Given the description of an element on the screen output the (x, y) to click on. 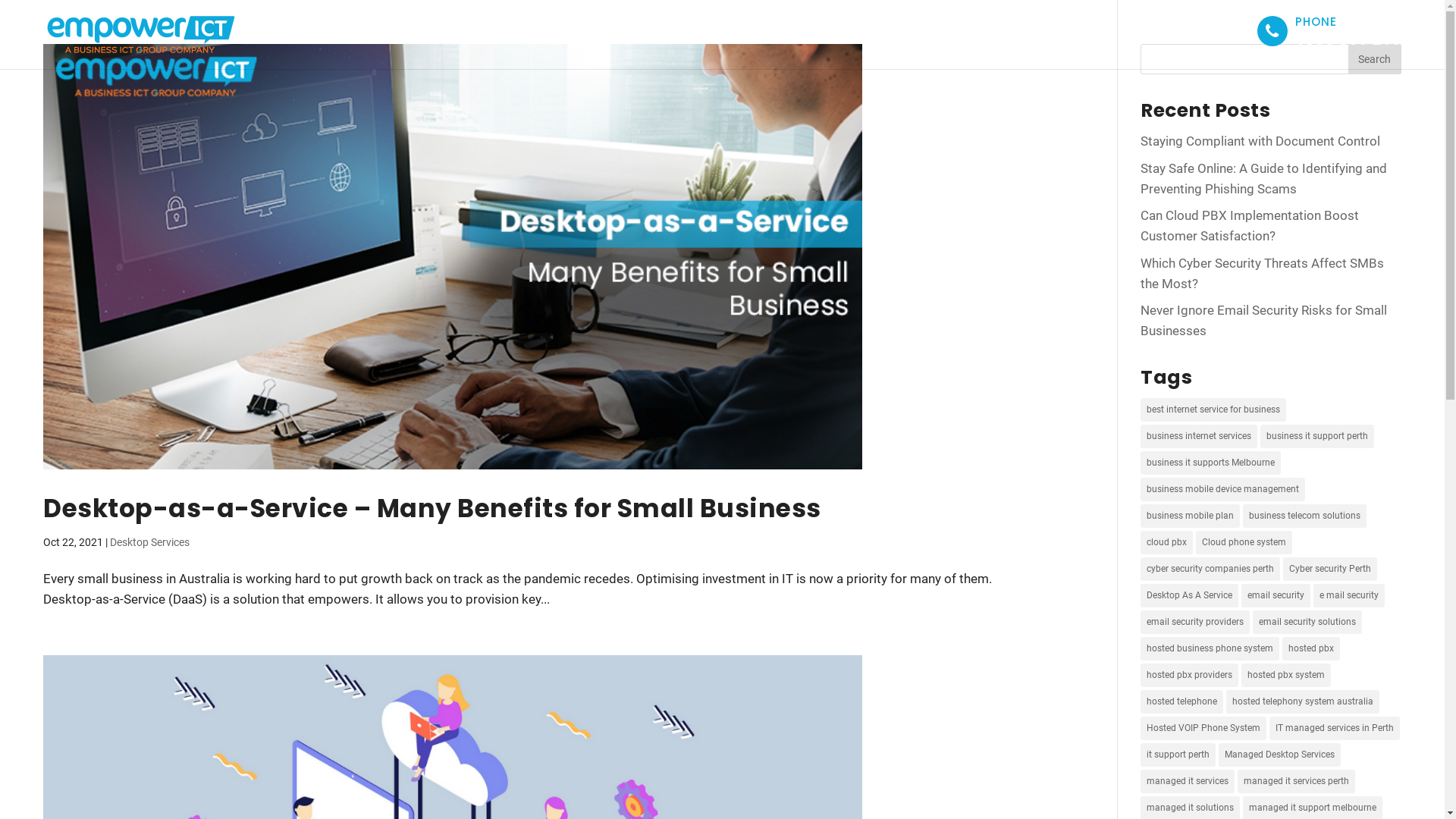
hosted pbx Element type: text (1310, 648)
managed it services Element type: text (1187, 781)
managed it services perth Element type: text (1296, 781)
1300 850 210 Element type: text (1348, 38)
business telecom solutions Element type: text (1304, 515)
Which Cyber Security Threats Affect SMBs the Most? Element type: text (1261, 272)
business it supports Melbourne Element type: text (1210, 462)
Capabilities Element type: text (982, 30)
business mobile plan Element type: text (1189, 515)
Cyber security Perth Element type: text (1330, 568)
hosted pbx providers Element type: text (1189, 675)
Can Cloud PBX Implementation Boost Customer Satisfaction? Element type: text (1249, 225)
Never Ignore Email Security Risks for Small Businesses Element type: text (1263, 320)
Desktop Services Element type: text (149, 542)
Desktop As A Service Element type: text (1189, 595)
hosted business phone system Element type: text (1209, 648)
it support perth Element type: text (1177, 754)
cloud pbx Element type: text (1166, 542)
best internet service for business Element type: text (1213, 409)
e mail security Element type: text (1348, 595)
Resources Element type: text (1068, 30)
Hosted VOIP Phone System Element type: text (1203, 728)
Contact Us Element type: text (1204, 30)
IT managed services in Perth Element type: text (1334, 728)
email security providers Element type: text (1194, 621)
Staying Compliant with Document Control Element type: text (1260, 140)
About Us Element type: text (899, 30)
Managed Desktop Services Element type: text (1279, 754)
Home Element type: text (832, 30)
email security Element type: text (1275, 595)
cyber security companies perth Element type: text (1210, 568)
hosted pbx system Element type: text (1285, 675)
hosted telephony system australia Element type: text (1302, 701)
Blog Element type: text (1136, 30)
business internet services Element type: text (1198, 436)
Cloud phone system Element type: text (1243, 542)
Search Element type: text (1374, 58)
hosted telephone Element type: text (1181, 701)
email security solutions Element type: text (1306, 621)
business it support perth Element type: text (1317, 436)
business mobile device management Element type: text (1222, 489)
